Given the description of an element on the screen output the (x, y) to click on. 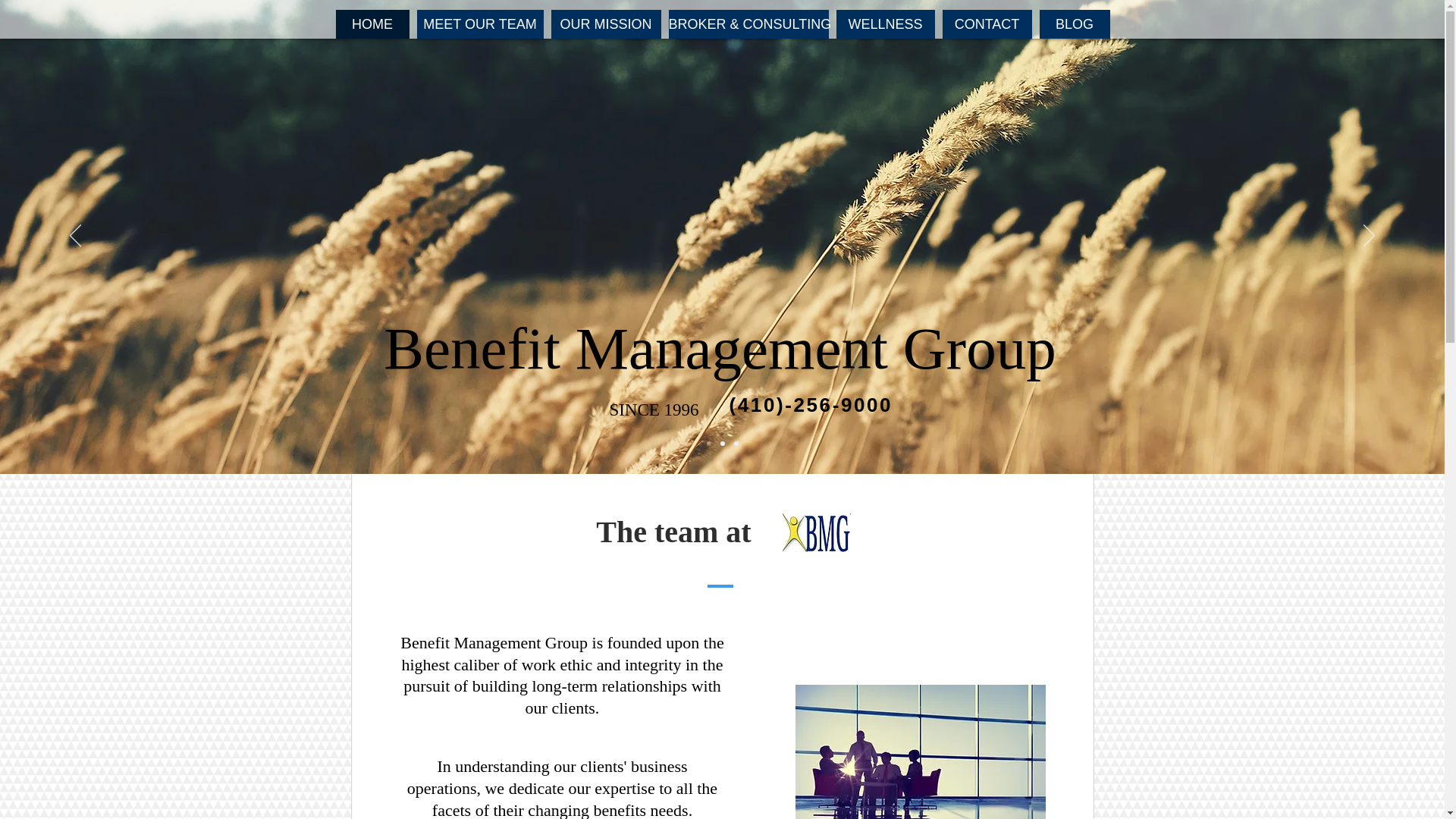
BLOG (1074, 23)
Modern Office (919, 751)
MEET OUR TEAM (479, 23)
HOME (371, 23)
WELLNESS (884, 23)
CONTACT (986, 23)
Edited Image 2015-5-20-10:44:51 (816, 530)
OUR MISSION (605, 23)
